Given the description of an element on the screen output the (x, y) to click on. 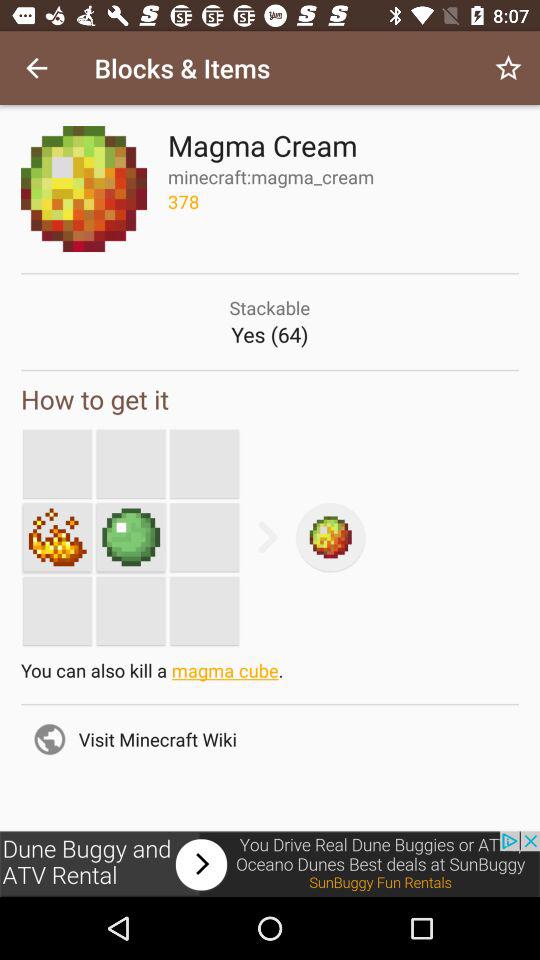
jump until the you can also (270, 675)
